Given the description of an element on the screen output the (x, y) to click on. 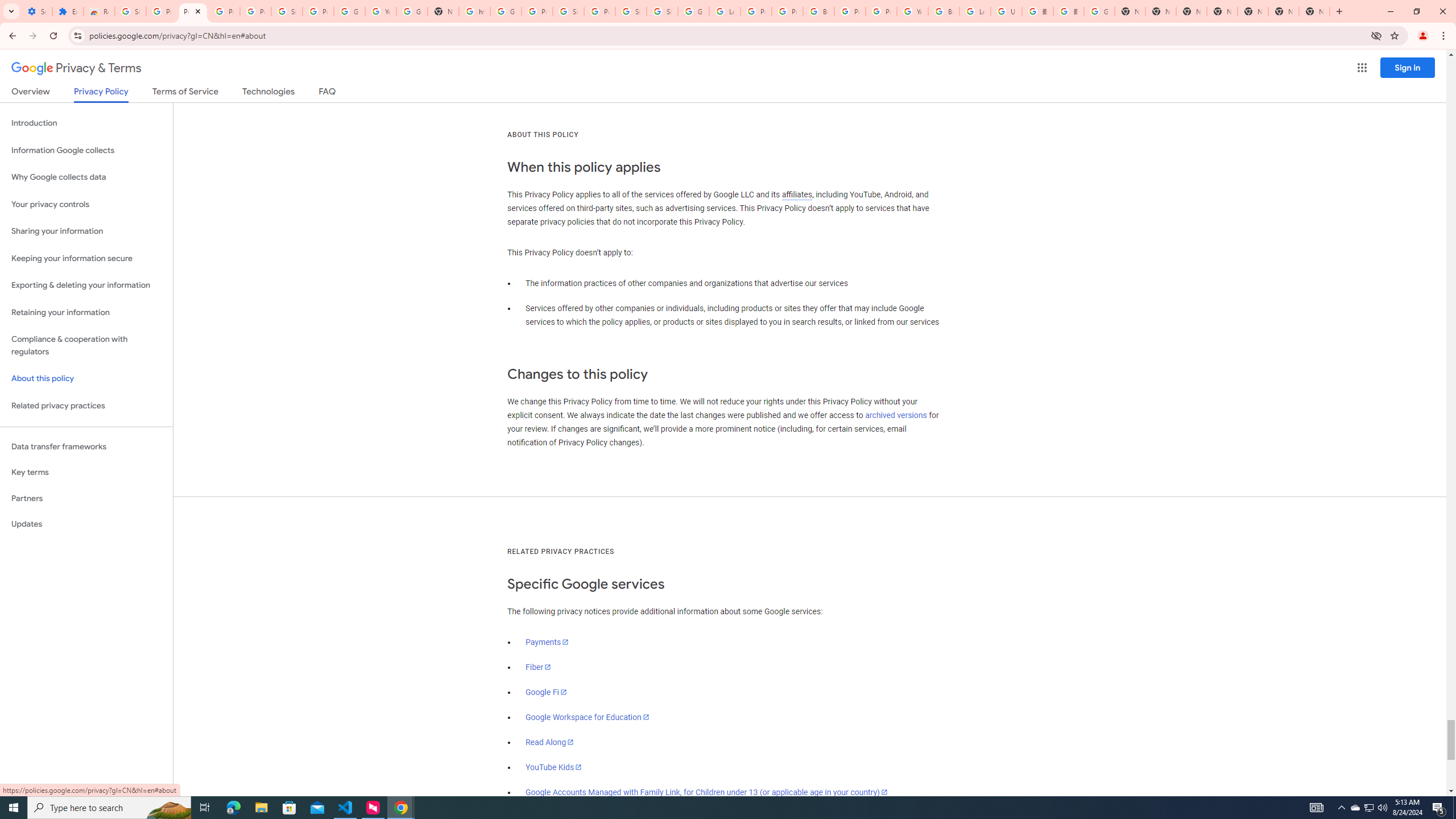
YouTube (912, 11)
Google Account (349, 11)
New Tab (1314, 11)
Data transfer frameworks (86, 446)
YouTube (380, 11)
Fiber (538, 666)
